Given the description of an element on the screen output the (x, y) to click on. 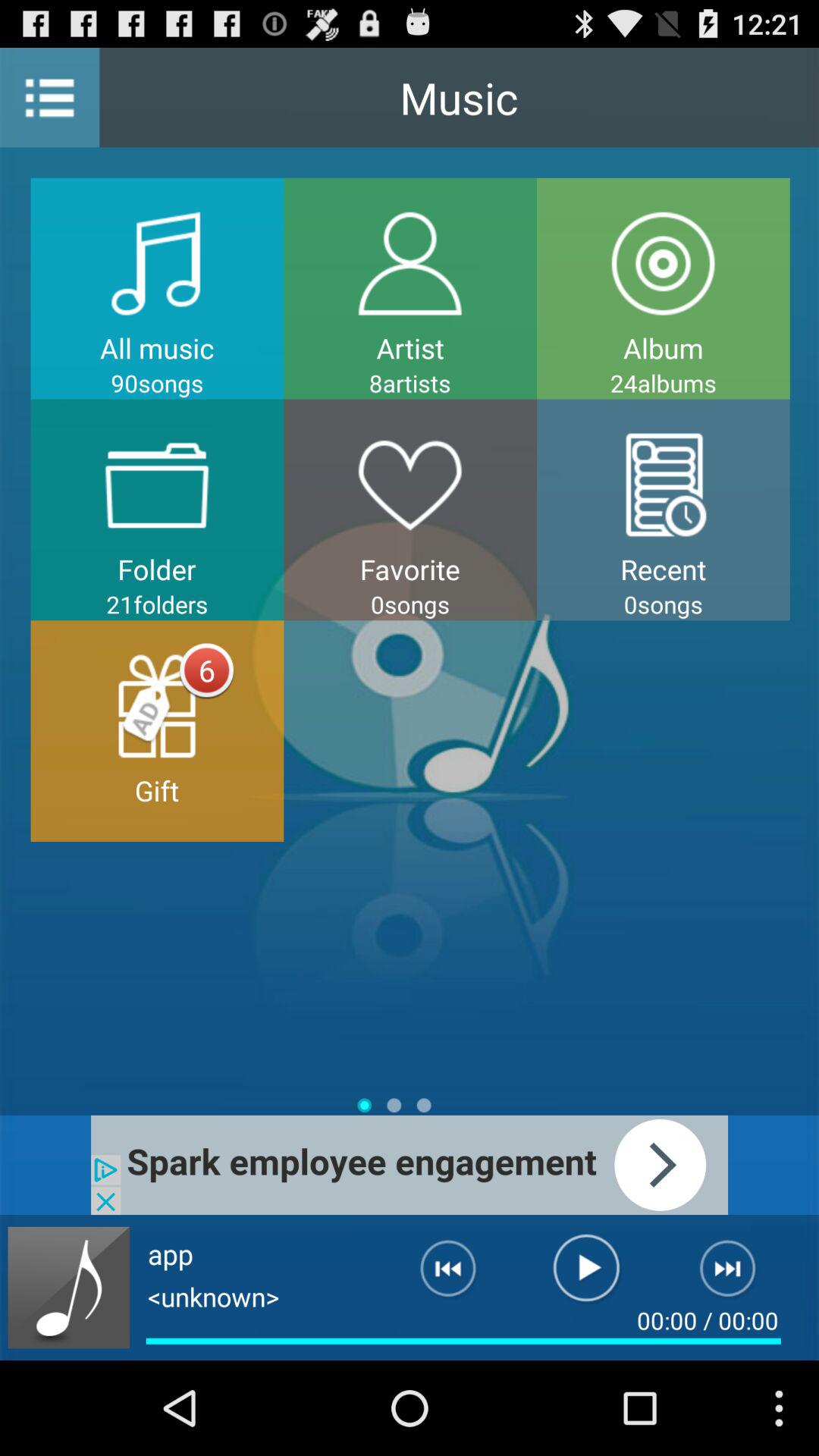
rewind or go back (436, 1274)
